Given the description of an element on the screen output the (x, y) to click on. 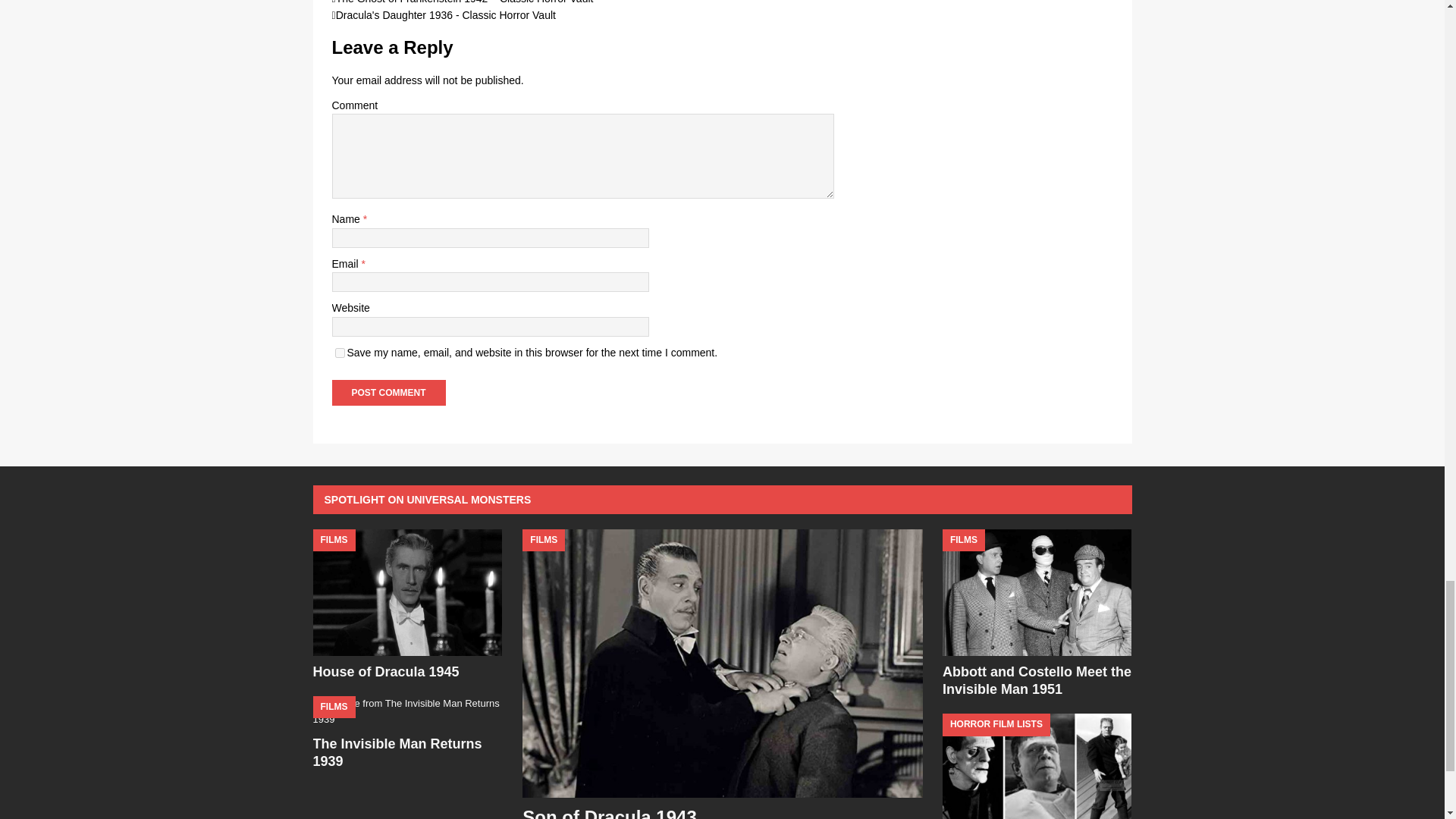
yes (339, 352)
Post Comment (388, 392)
